Given the description of an element on the screen output the (x, y) to click on. 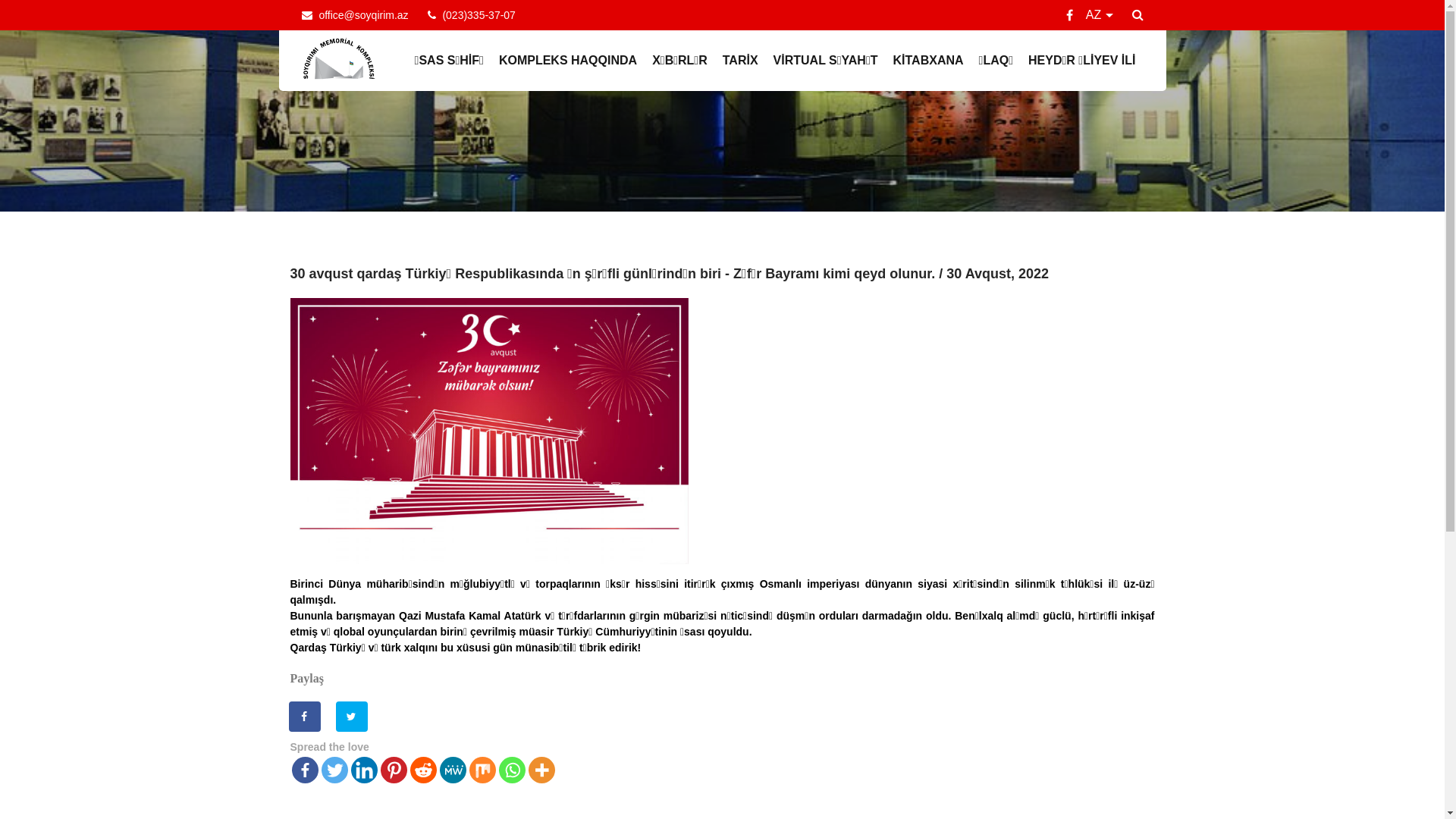
Share on Twitter Element type: hover (352, 716)
AZ Element type: text (1100, 15)
MeWe Element type: hover (452, 769)
Twitter Element type: hover (334, 769)
KOMPLEKS HAQQINDA Element type: text (567, 59)
Reddit Element type: hover (422, 769)
Pinterest Element type: hover (393, 769)
More Element type: hover (540, 769)
Linkedin Element type: hover (363, 769)
Facebook Element type: hover (304, 769)
Mix Element type: hover (481, 769)
Whatsapp Element type: hover (511, 769)
TARIX Element type: text (740, 59)
Share on Facebook Element type: hover (304, 716)
